Given the description of an element on the screen output the (x, y) to click on. 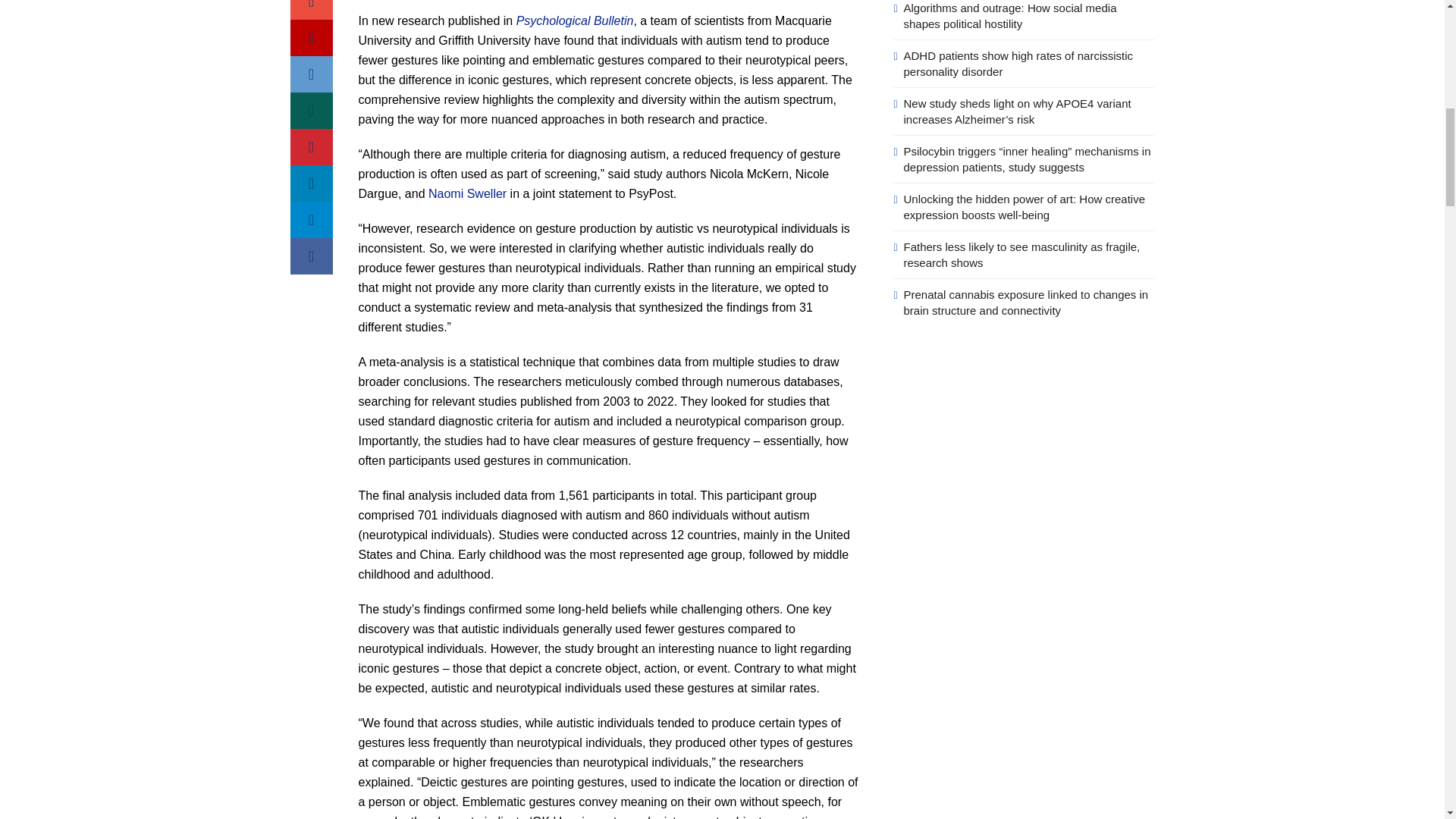
Psychological Bulletin (574, 20)
Naomi Sweller (467, 193)
